Given the description of an element on the screen output the (x, y) to click on. 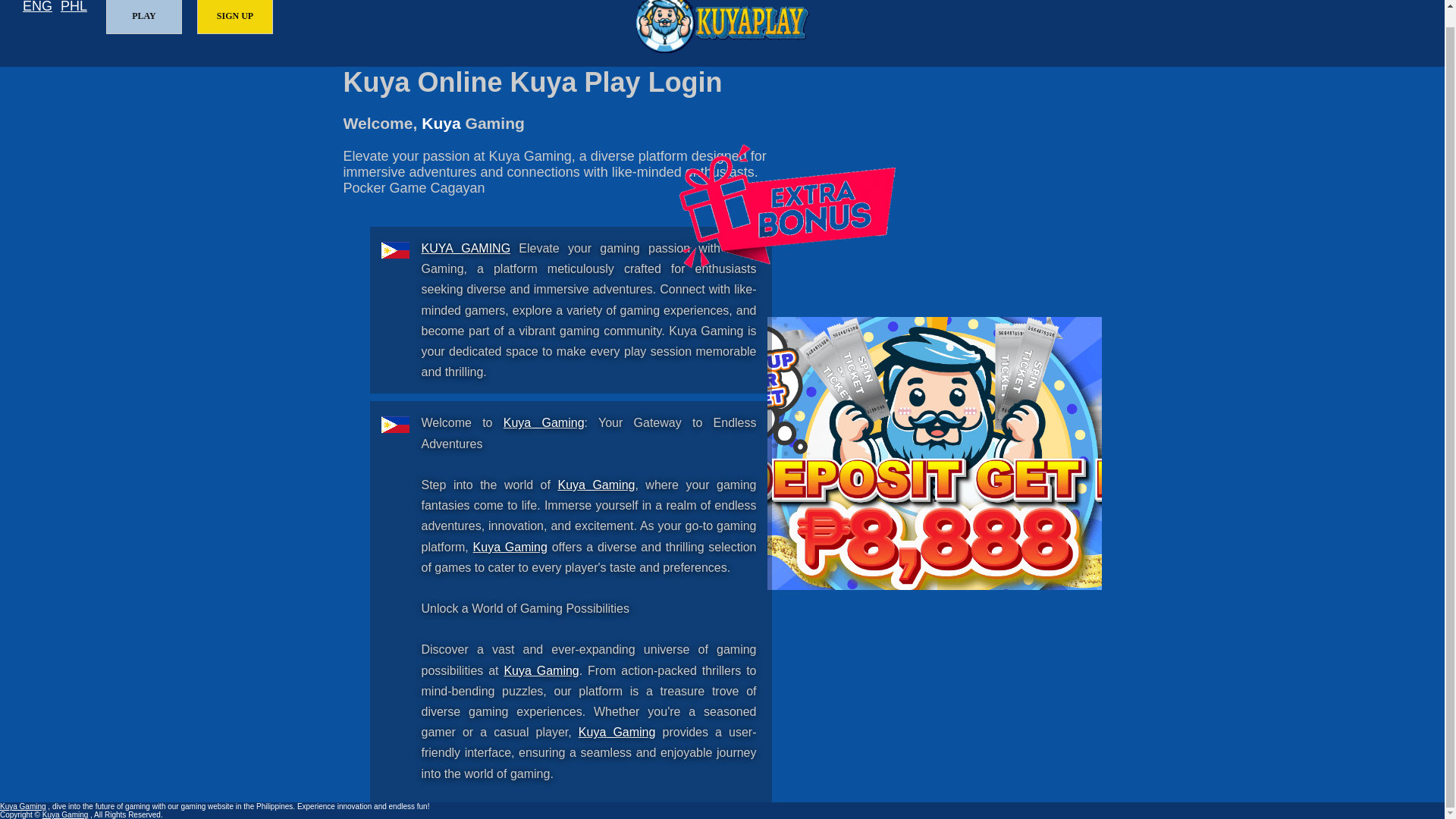
Kuyaplay (721, 27)
Kuya Gaming (544, 422)
PLAY (144, 17)
ENG (37, 7)
Kuya Gaming (617, 731)
Kuya Gaming - Kuya Gaming (510, 546)
KUYA GAMING (466, 247)
English (37, 7)
Filipino (74, 7)
Kuya Gaming - Kuya Gaming (595, 484)
Kuya Gaming (540, 670)
Kuya Gaming (466, 247)
Kuya Gaming - Kuya Gaming (540, 670)
SIGN UP (234, 17)
Kuya Gaming - Kuya Gaming (544, 422)
